Given the description of an element on the screen output the (x, y) to click on. 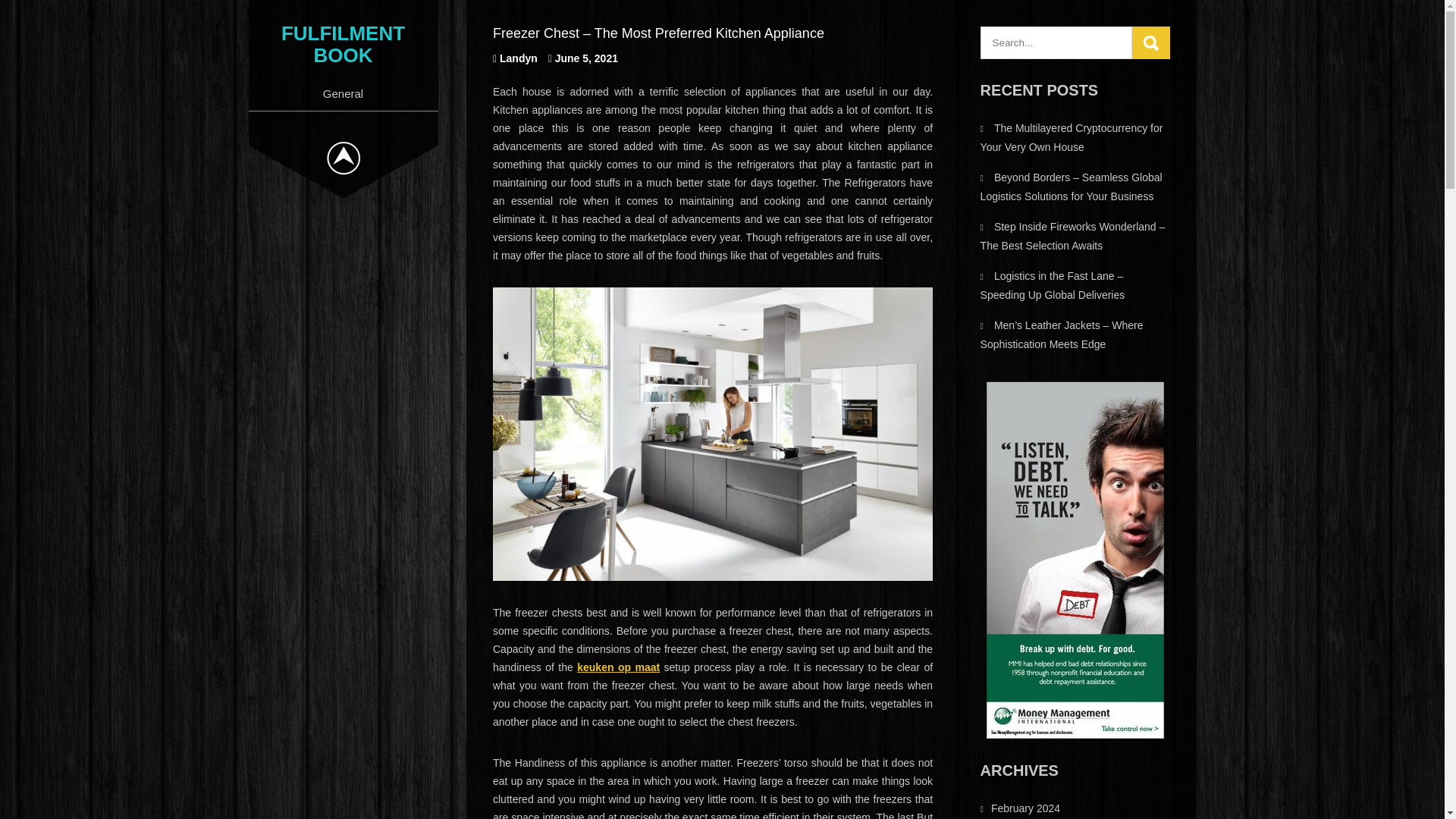
Search (1151, 42)
Search (1151, 42)
February 2024 (1025, 808)
Search (1151, 42)
General (343, 93)
FULFILMENT BOOK (342, 44)
The Multilayered Cryptocurrency for Your Very Own House (1071, 137)
keuken op maat (617, 666)
